Given the description of an element on the screen output the (x, y) to click on. 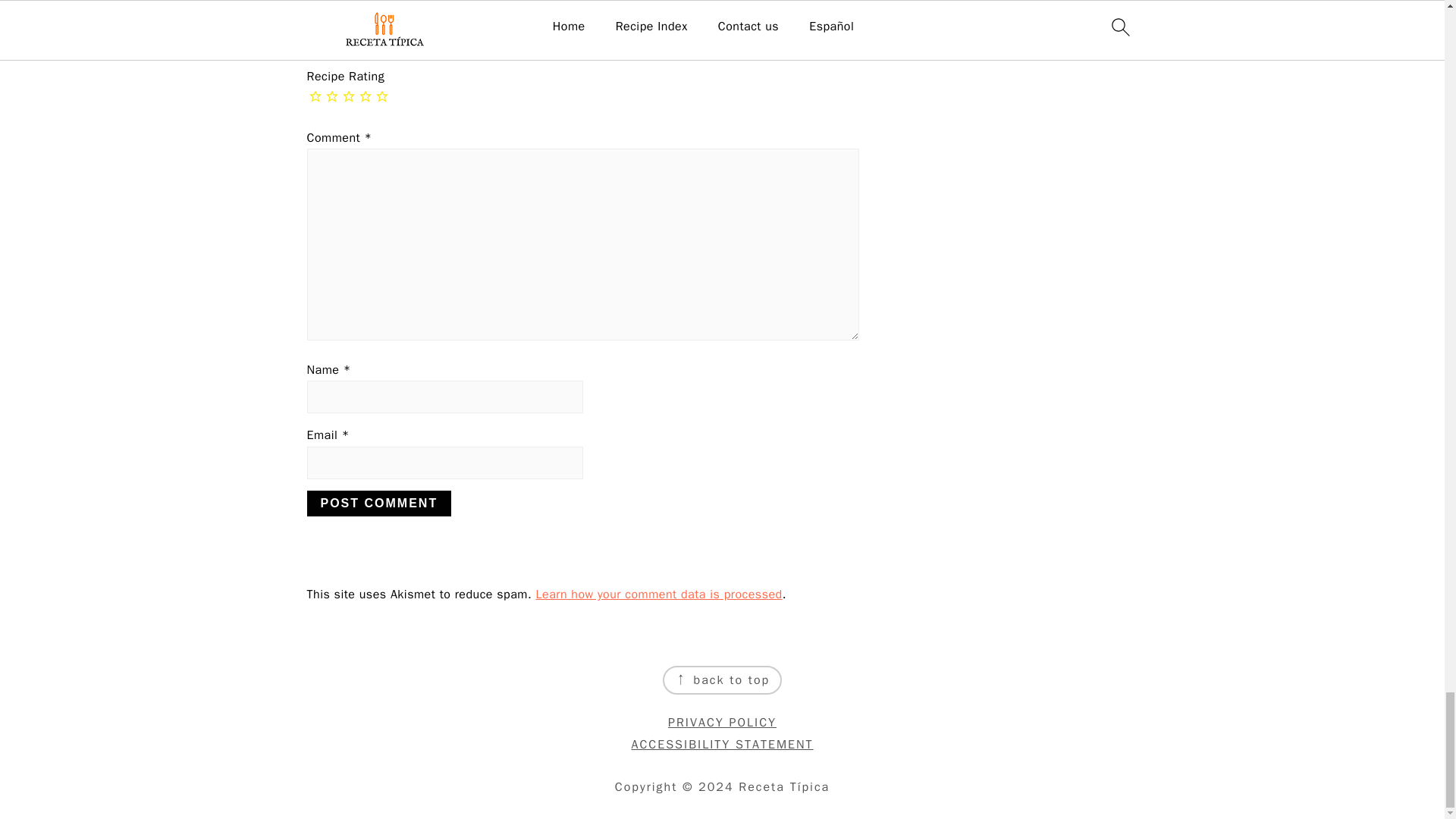
Post Comment (378, 503)
